Given the description of an element on the screen output the (x, y) to click on. 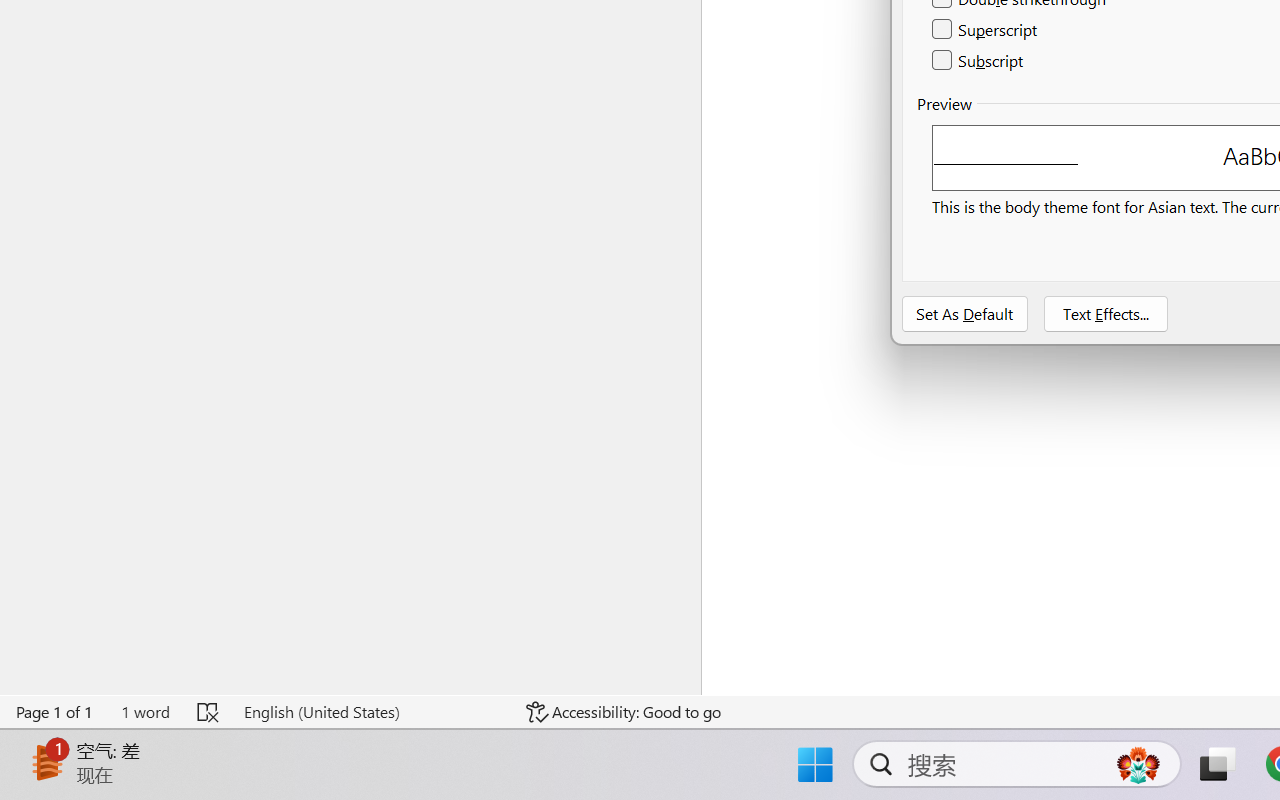
Set As Default (965, 313)
Spelling and Grammar Check Errors (208, 712)
Subscript (978, 60)
Text Effects... (1105, 313)
Superscript (985, 29)
